Given the description of an element on the screen output the (x, y) to click on. 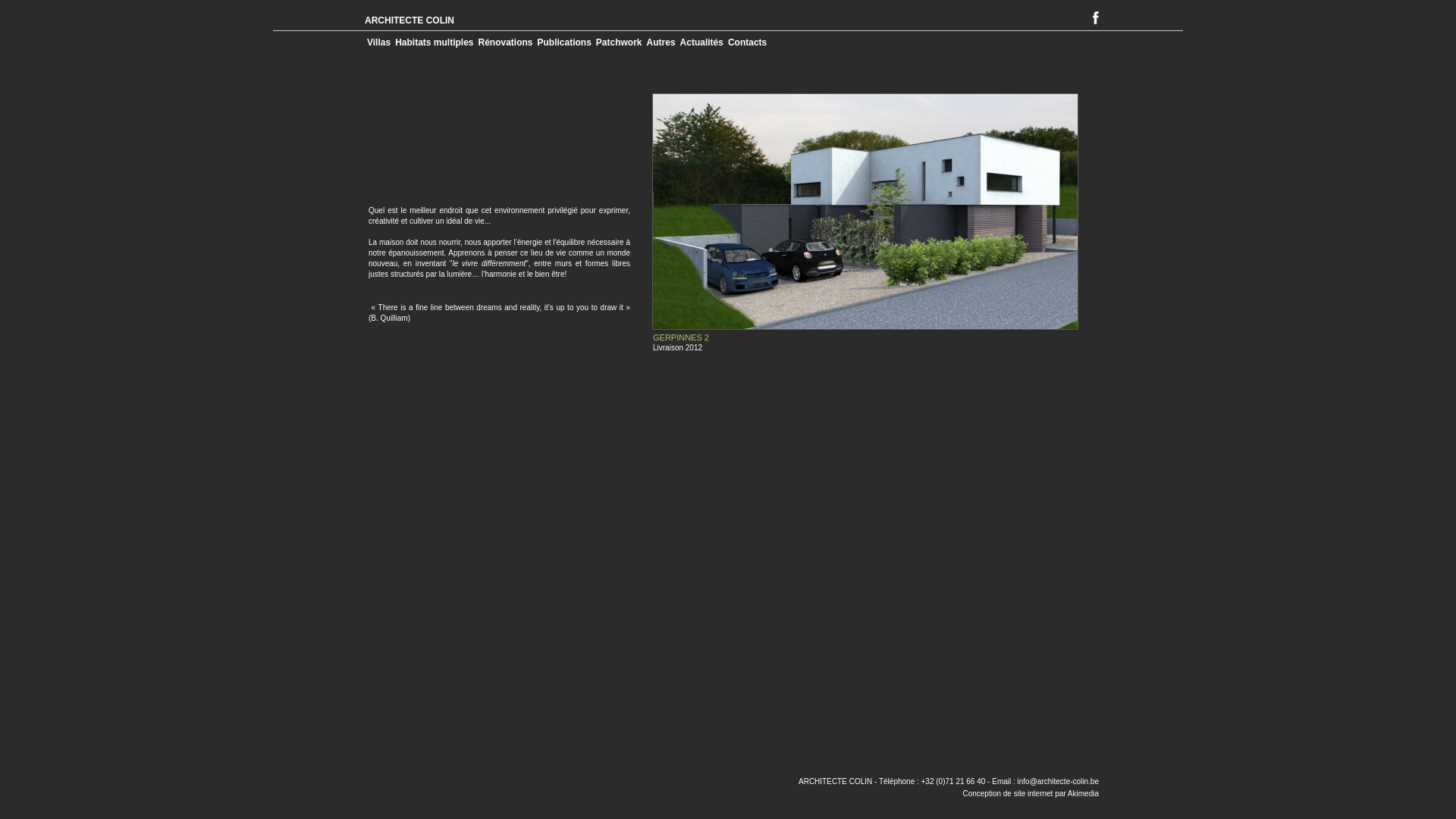
GERPINNES 2 Element type: text (680, 337)
Livraison 2012 Element type: text (677, 347)
info@architecte-colin.be Element type: text (1057, 781)
Publications Element type: text (564, 42)
ARCHITECTE COLIN Element type: text (409, 20)
Contacts Element type: text (747, 42)
Conception de site internet par Akimedia Element type: text (1030, 793)
Autres Element type: text (660, 42)
Patchwork Element type: text (619, 42)
Villas Element type: text (378, 42)
Habitats multiples Element type: text (434, 42)
